Given the description of an element on the screen output the (x, y) to click on. 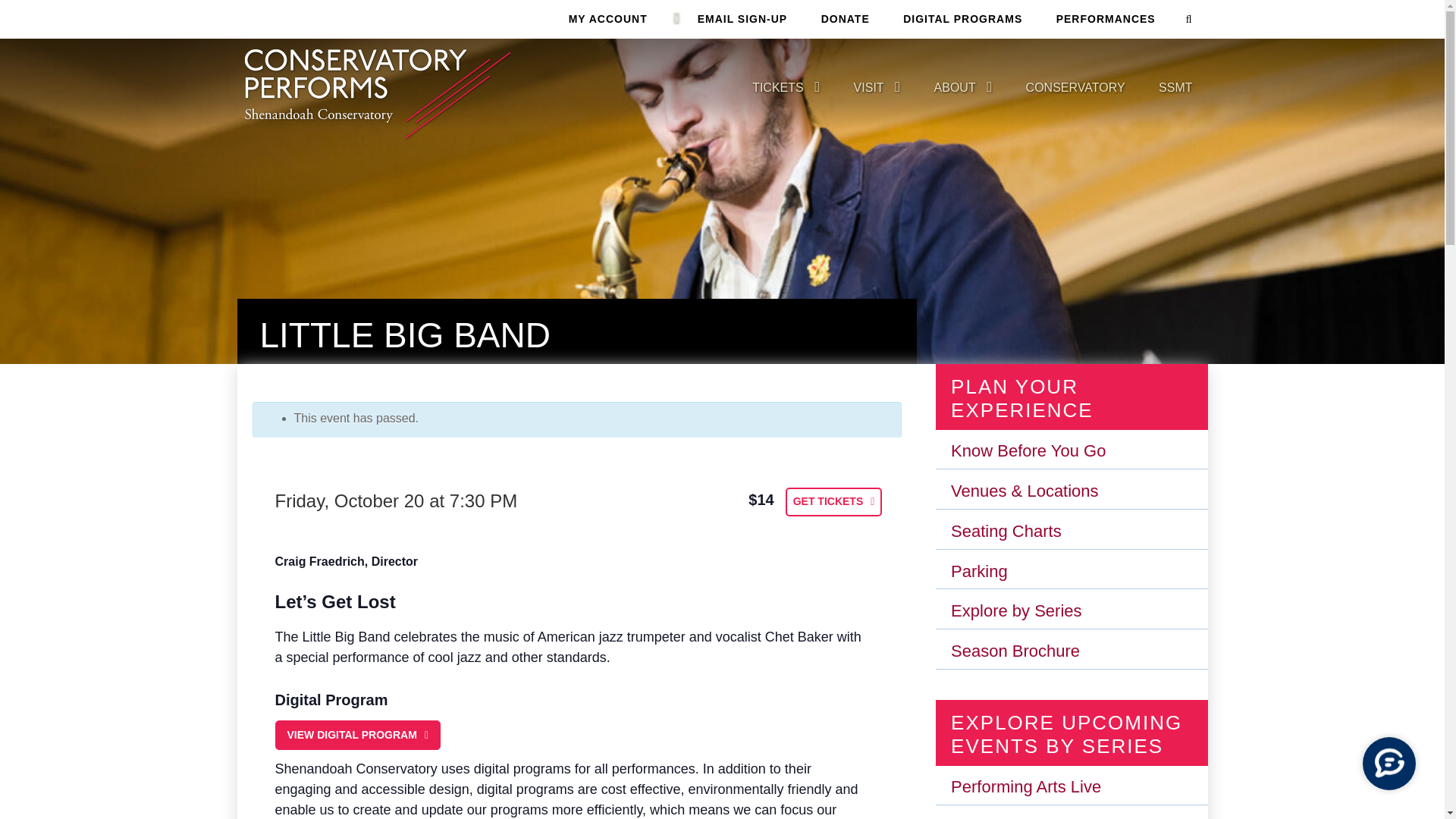
EMAIL SIGN-UP (742, 18)
SHENANDOAH UNIVERSITY (376, 94)
TICKETS (777, 87)
PERFORMANCES (1105, 18)
ABOUT (954, 87)
DONATE (845, 18)
DIGITAL PROGRAMS (962, 18)
MY ACCOUNT (607, 18)
VISIT (868, 87)
